Given the description of an element on the screen output the (x, y) to click on. 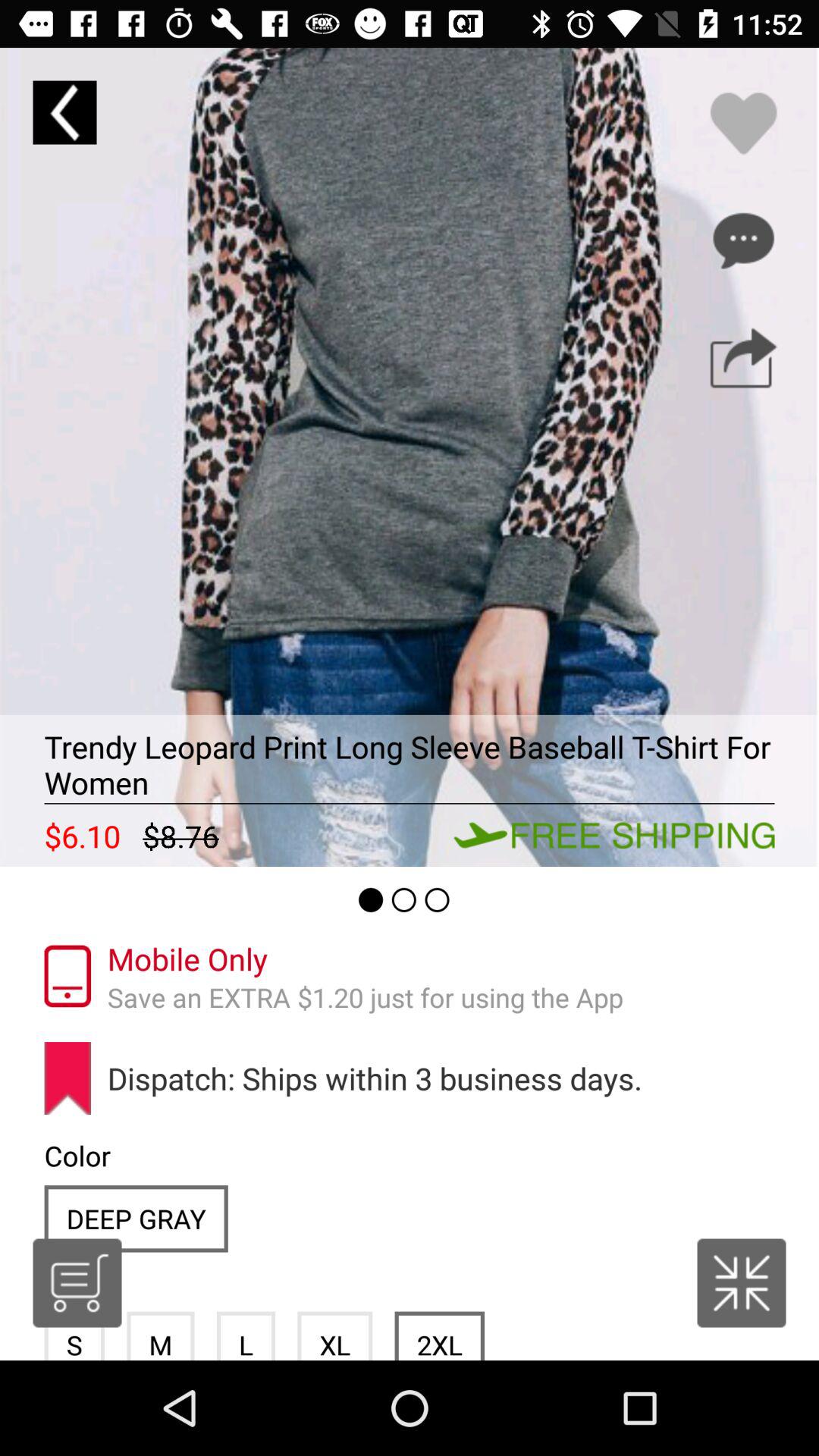
flip until the s icon (74, 1335)
